Given the description of an element on the screen output the (x, y) to click on. 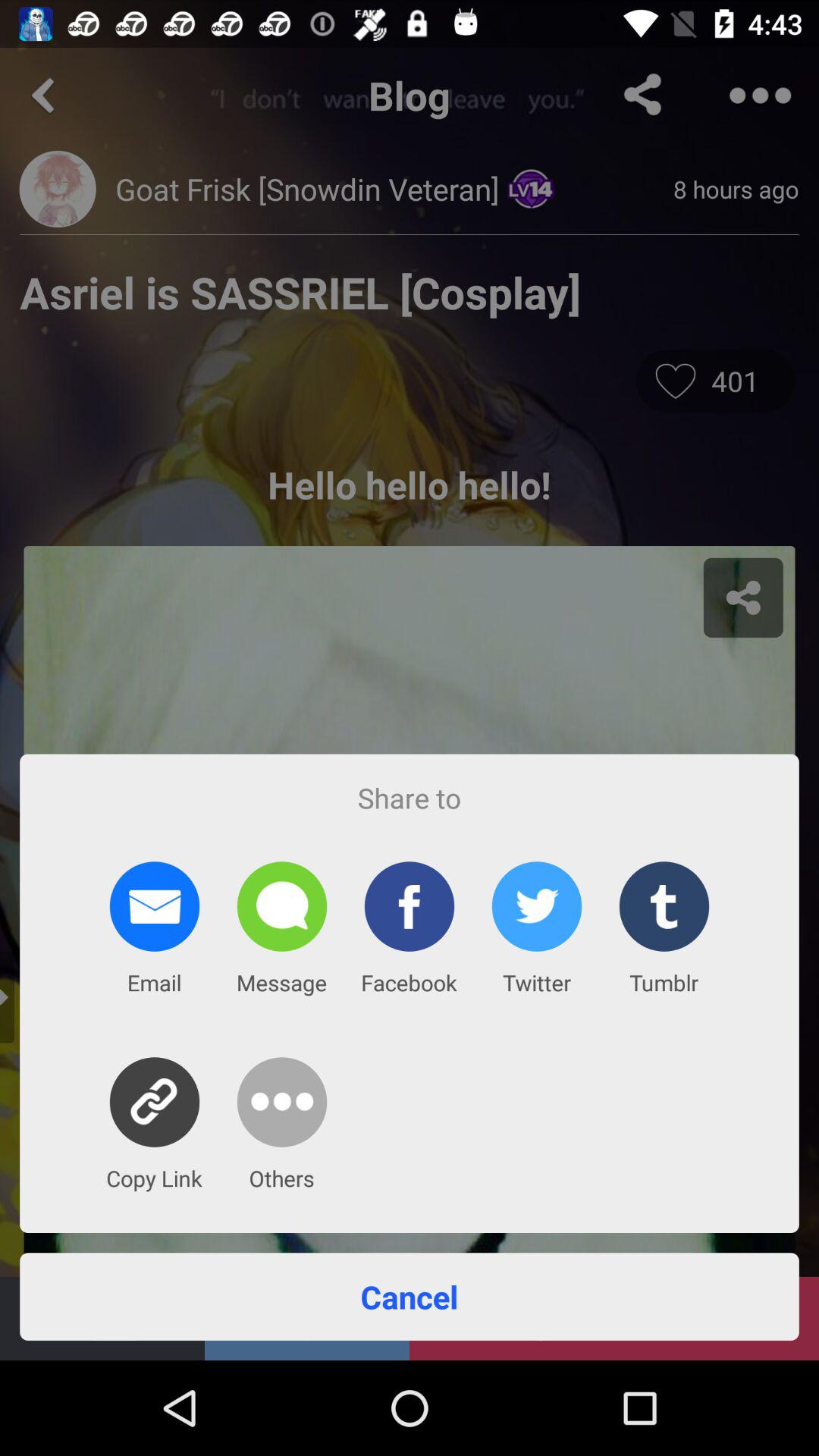
click on copy link button (154, 1102)
